Given the description of an element on the screen output the (x, y) to click on. 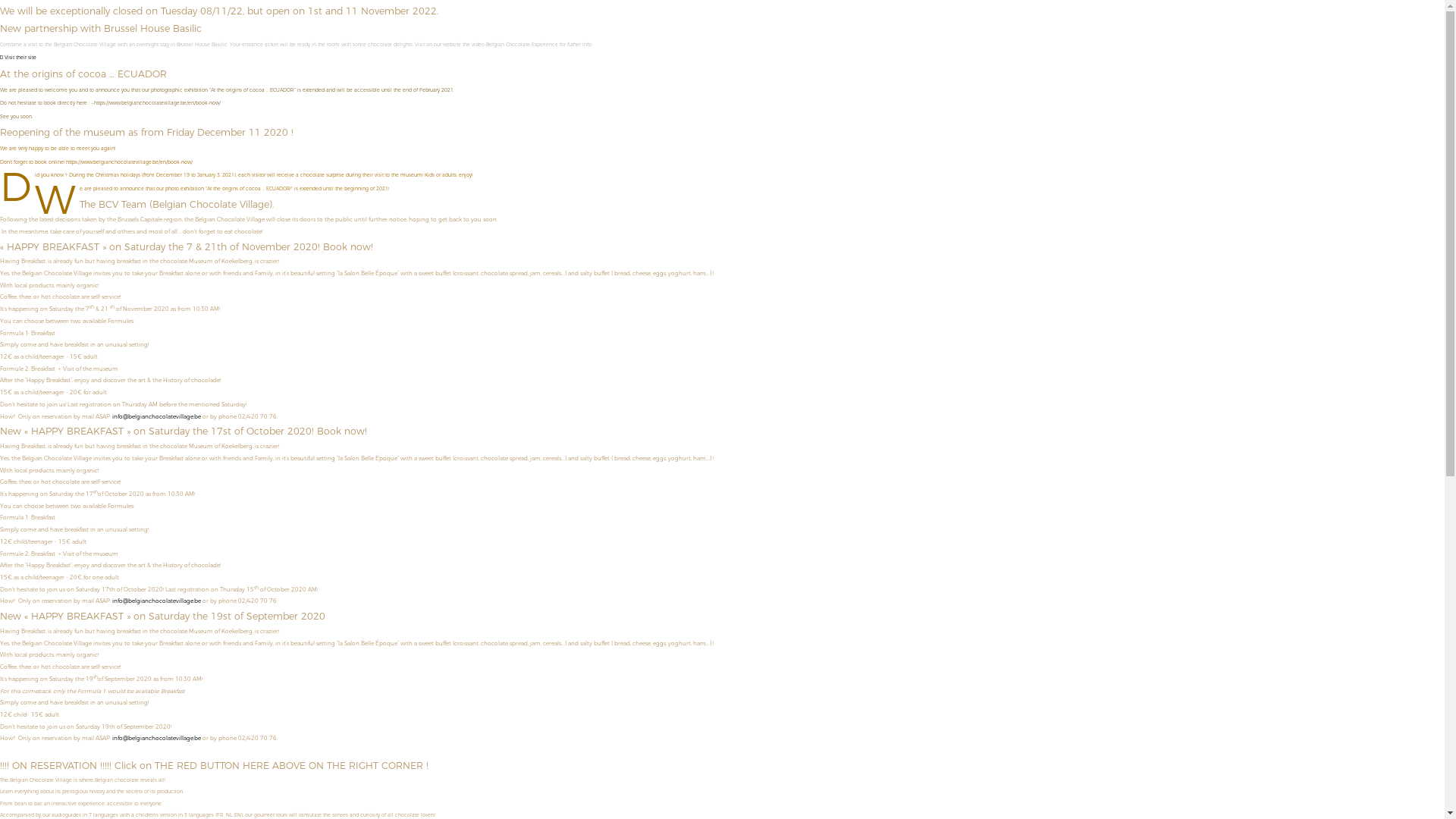
info@belgianchocolatevillage.be Element type: text (156, 600)
https://www.belgianchocolatevillage.be/en/book-now/ Element type: text (157, 103)
info@belgianchocolatevillage.be Element type: text (156, 416)
https://www.belgianchocolatevillage.be/en/book-now/ Element type: text (128, 162)
info@belgianchocolatevillage.be Element type: text (156, 737)
